Given the description of an element on the screen output the (x, y) to click on. 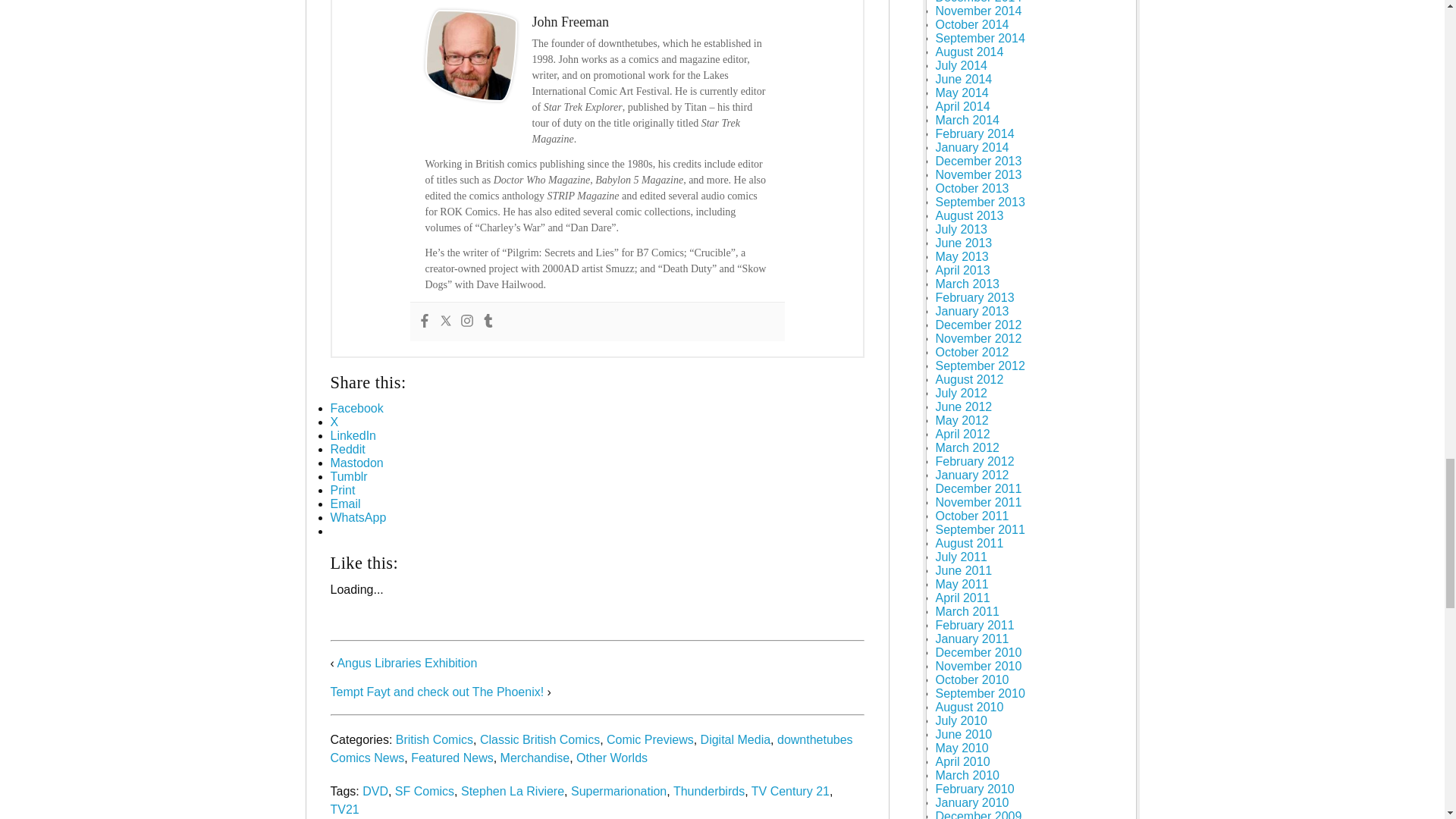
Click to share on X (334, 421)
Facebook (423, 321)
Click to share on Facebook (357, 408)
Click to share on Mastodon (357, 462)
Instagram (466, 321)
Tumblr (487, 321)
Twitter (444, 321)
Click to share on LinkedIn (353, 435)
Click to share on Reddit (347, 449)
